Given the description of an element on the screen output the (x, y) to click on. 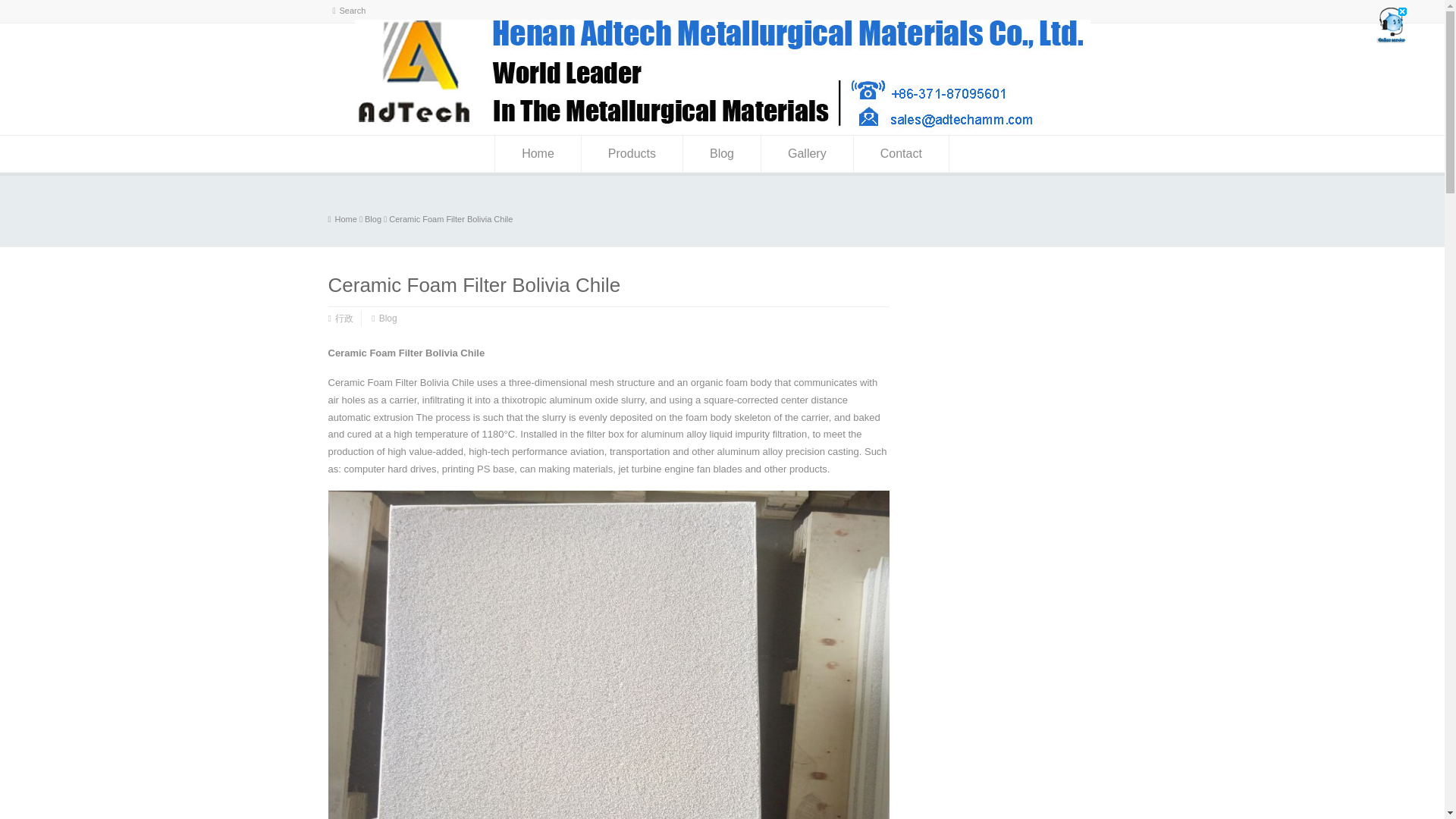
Gallery (807, 153)
Ceramic Foam Filter Bolivia Chile (450, 218)
Aluminum casting filter (345, 218)
Contact (901, 153)
Blog (721, 153)
Home (341, 218)
Home (537, 153)
Aluminum casting filter (722, 129)
Blog (373, 218)
Products (631, 153)
View all posts in Blog (373, 218)
Blog (387, 318)
